Given the description of an element on the screen output the (x, y) to click on. 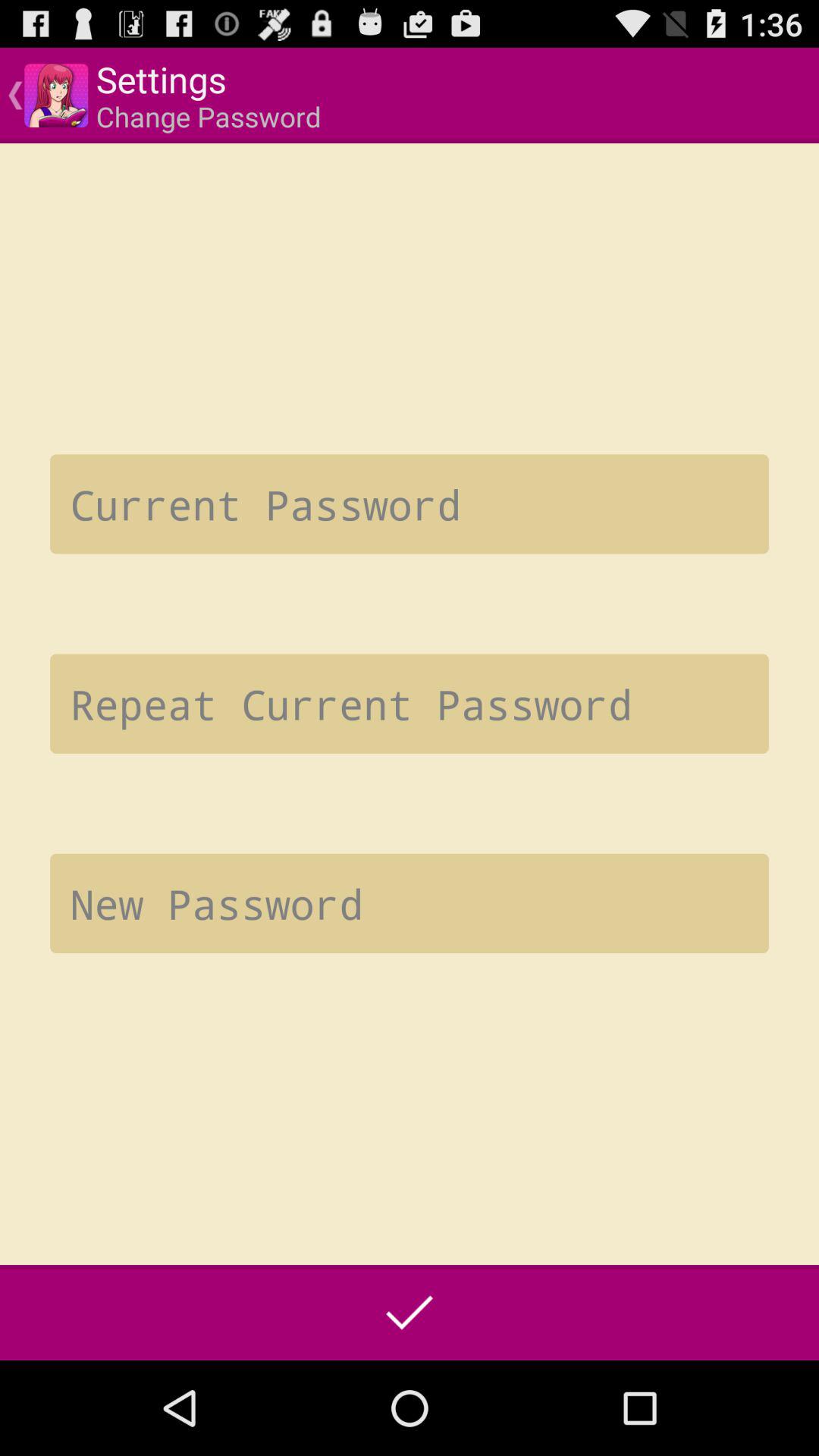
choose the icon at the bottom (409, 1312)
